Given the description of an element on the screen output the (x, y) to click on. 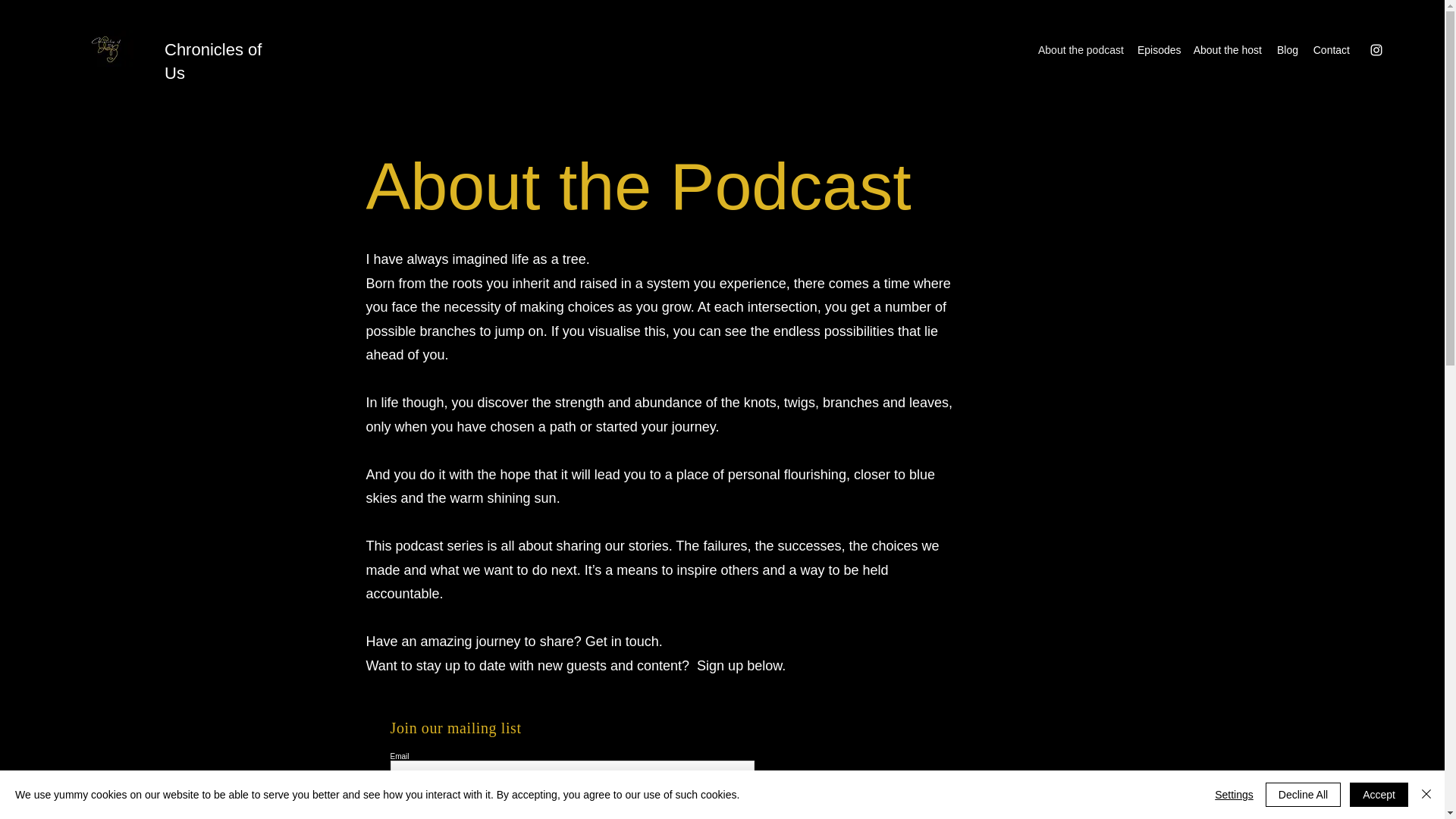
About the host (1227, 49)
Blog (1286, 49)
Accept (1378, 794)
Decline All (1302, 794)
Contact (1330, 49)
About the podcast (1079, 49)
Episodes (1157, 49)
